Given the description of an element on the screen output the (x, y) to click on. 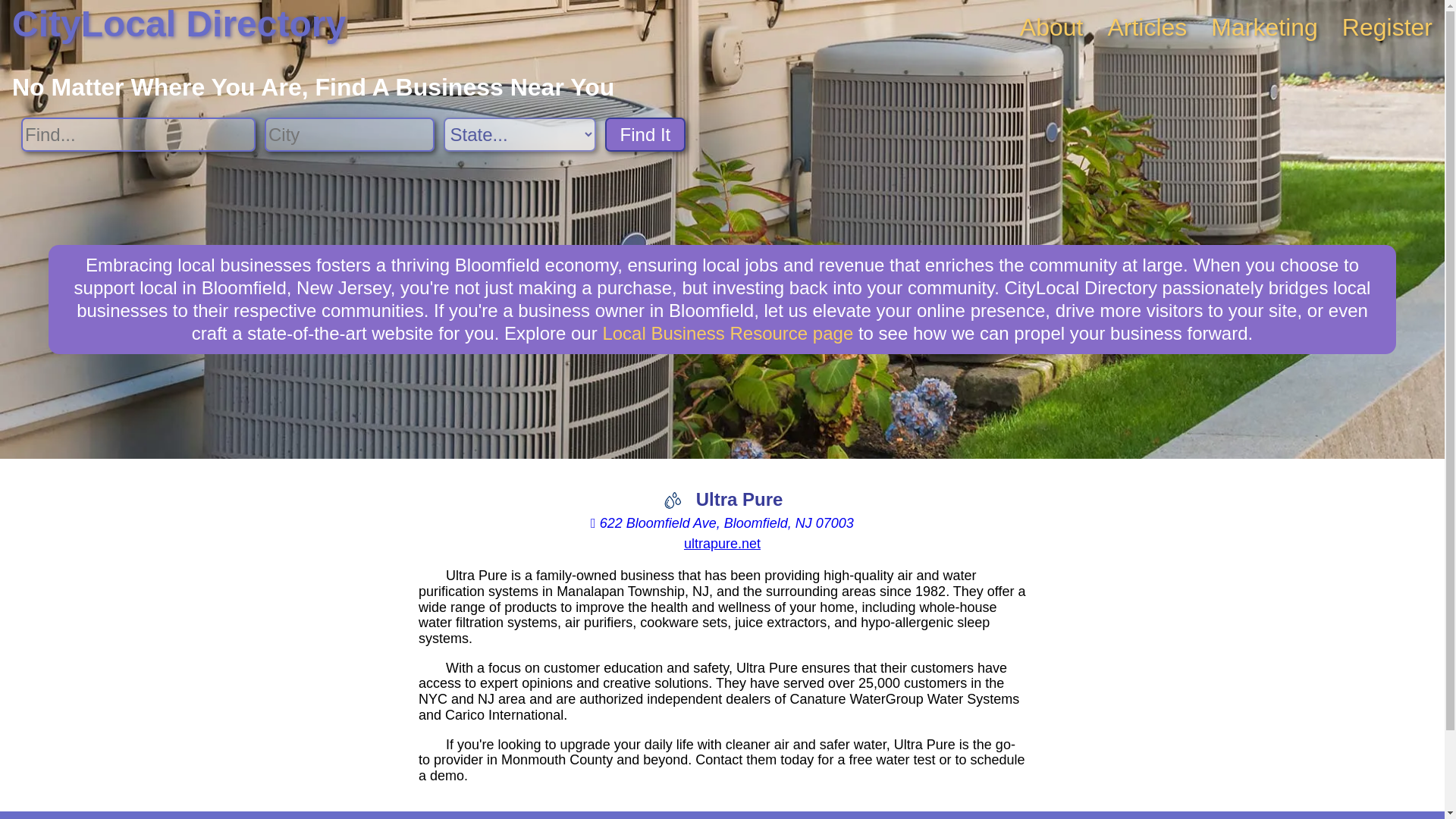
Find It (645, 134)
View on Google Maps (721, 523)
ultrapure.net (722, 543)
CityLocal Directory (178, 24)
Local Business Resources (727, 332)
Marketing (1264, 27)
Articles (1146, 27)
Business Marketing Opportunites (1264, 27)
Register (1387, 27)
About (1051, 27)
About CityLocal Directory (1051, 27)
Local Business Resource page (727, 332)
Articles (1146, 27)
Visit ultrapure.net (722, 543)
Register My Business (1387, 27)
